Given the description of an element on the screen output the (x, y) to click on. 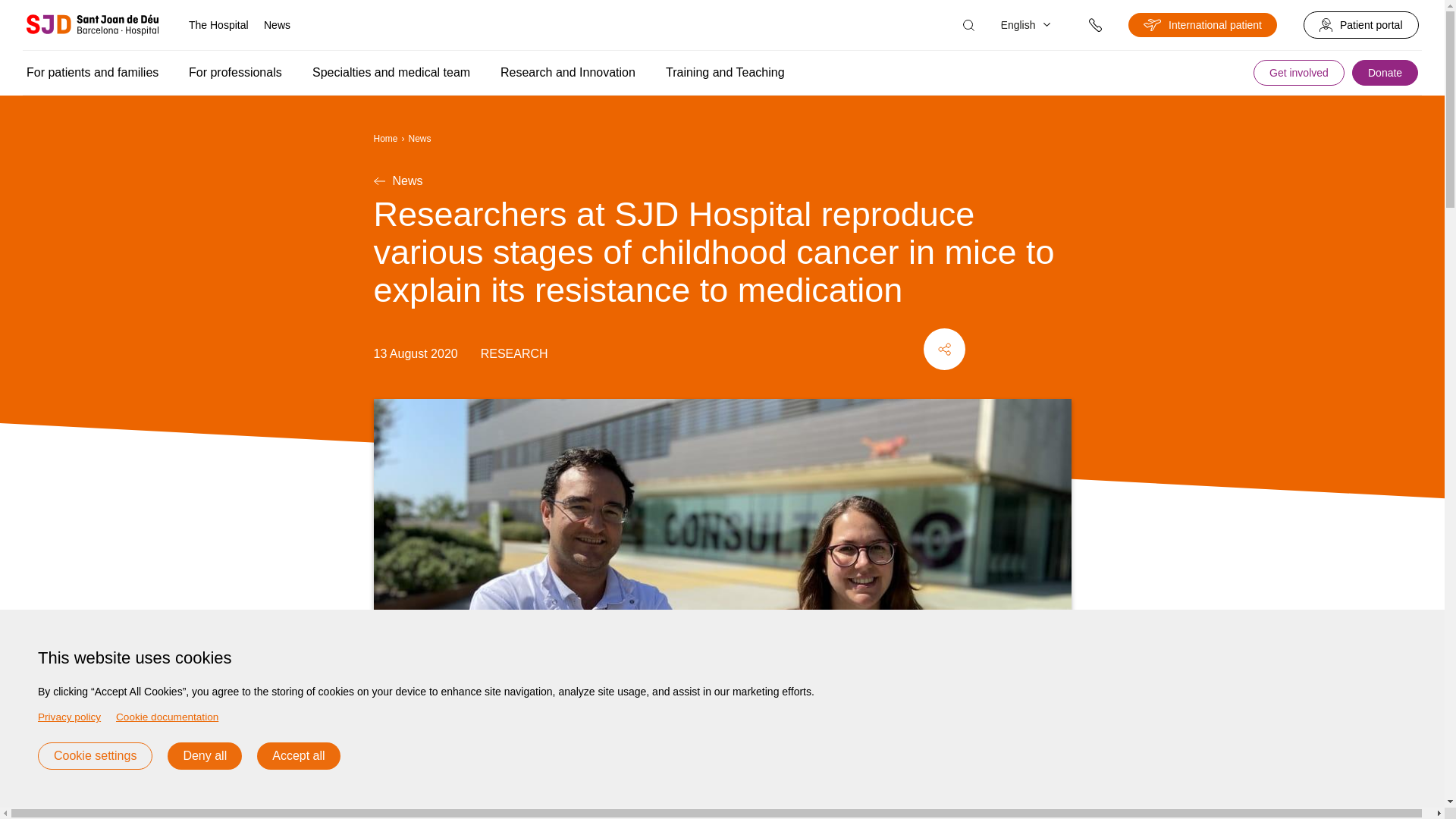
News (277, 24)
The Hospital (218, 24)
